Given the description of an element on the screen output the (x, y) to click on. 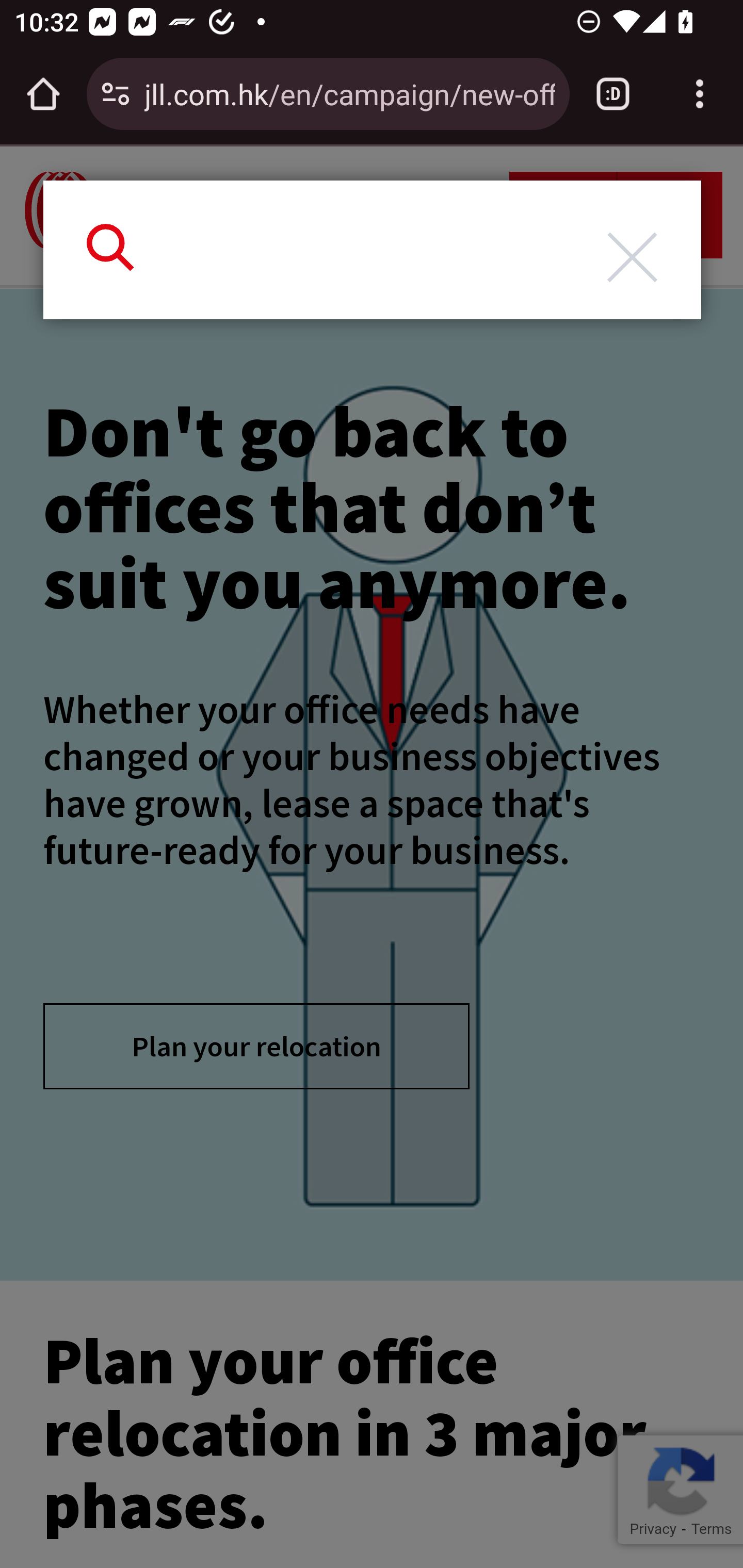
Open the home page (43, 93)
Connection is secure (115, 93)
Switch or close tabs (612, 93)
Customize and control Google Chrome (699, 93)
